Given the description of an element on the screen output the (x, y) to click on. 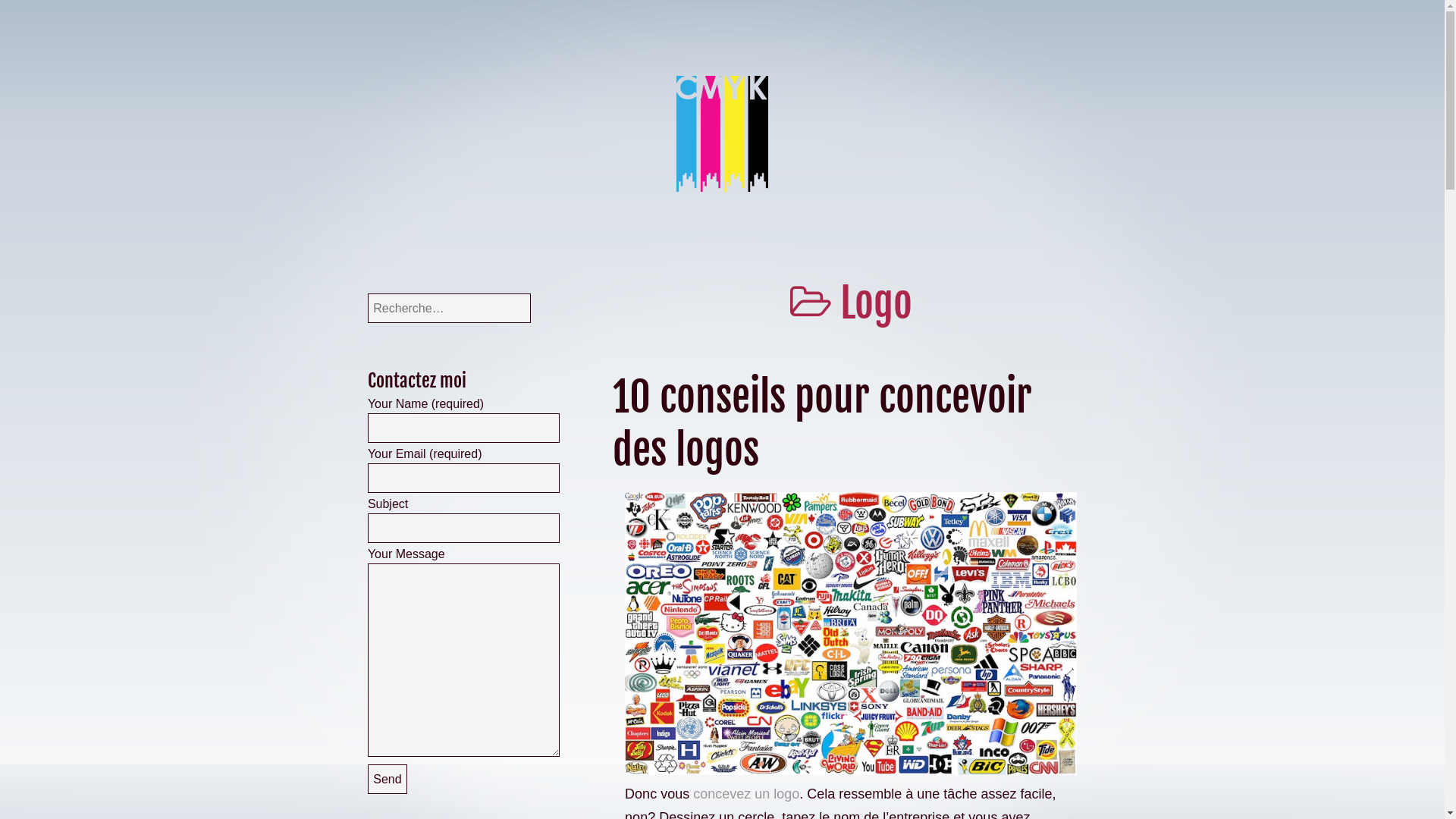
10 conseils pour concevoir des logos Element type: text (822, 423)
Send Element type: text (387, 778)
concevez un logo Element type: text (746, 793)
Rechercher Element type: text (36, 14)
